Given the description of an element on the screen output the (x, y) to click on. 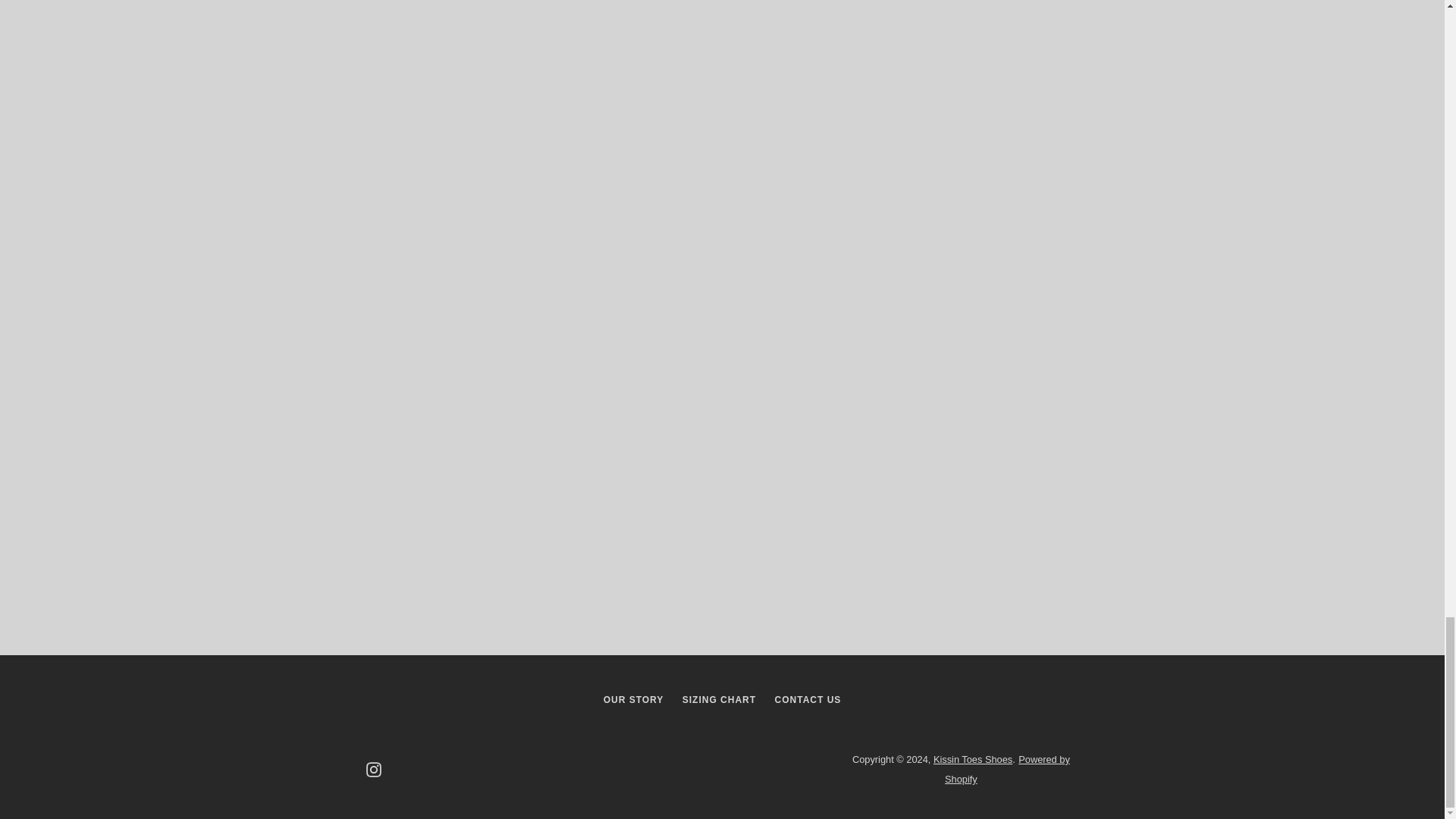
OUR STORY (633, 699)
CONTACT US (807, 699)
Kissin Toes Shoes on Instagram (372, 768)
SIZING CHART (718, 699)
